Given the description of an element on the screen output the (x, y) to click on. 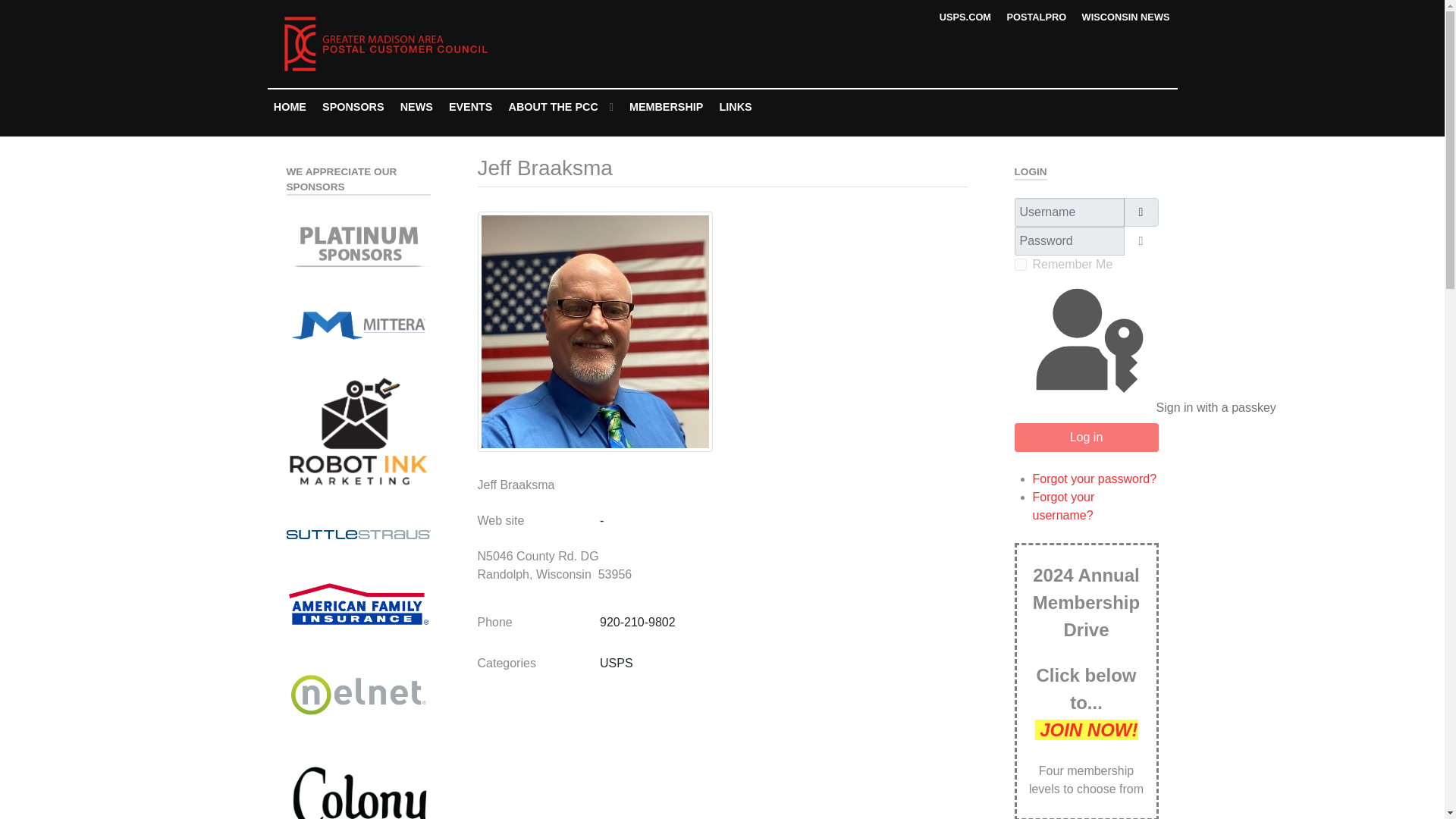
Wisconsin News (1125, 16)
 JOIN NOW! (1085, 729)
Sign in with a passkey (1086, 349)
Show Password (1141, 240)
WISCONSIN NEWS (1125, 16)
Forgot your username? (1063, 505)
EVENTS (469, 106)
POSTALPRO (1035, 16)
Jeff Braaksma (595, 331)
MEMBERSHIP (666, 106)
